Given the description of an element on the screen output the (x, y) to click on. 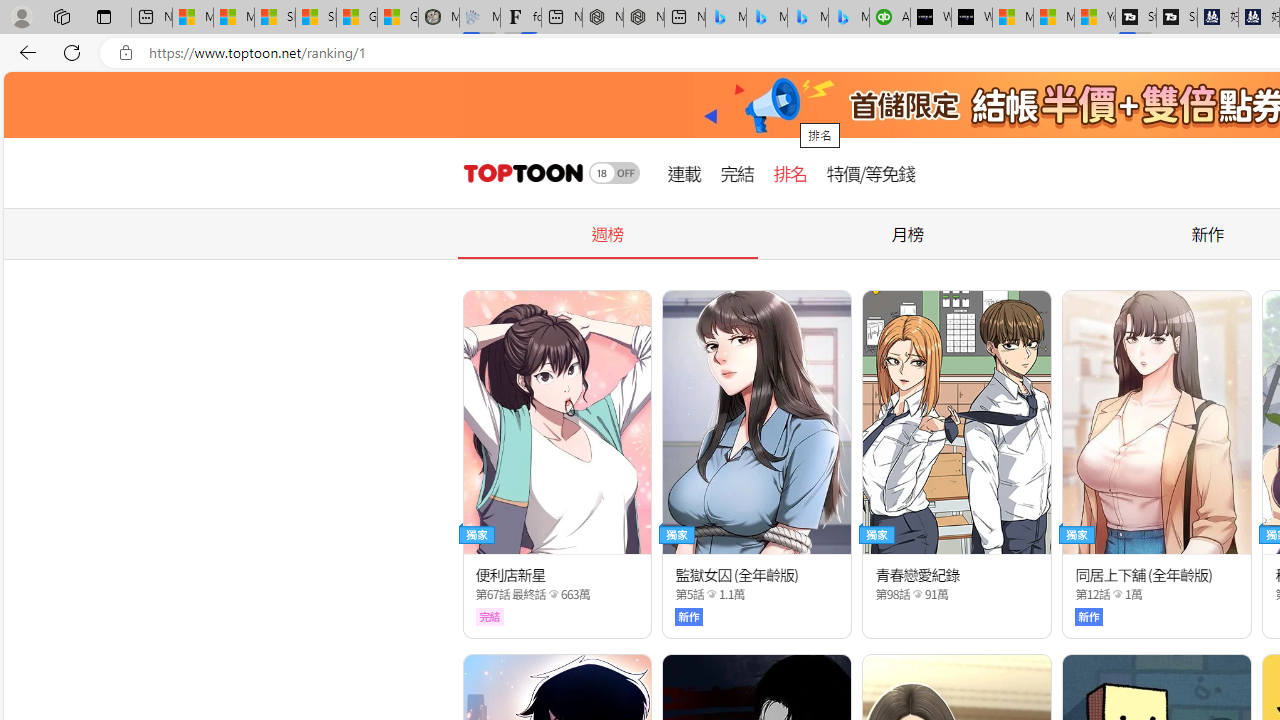
Class:  switch_18mode actionAdultBtn (614, 173)
Manatee Mortality Statistics | FWC (438, 17)
Microsoft Bing Travel - Shangri-La Hotel Bangkok (849, 17)
header (519, 173)
